Given the description of an element on the screen output the (x, y) to click on. 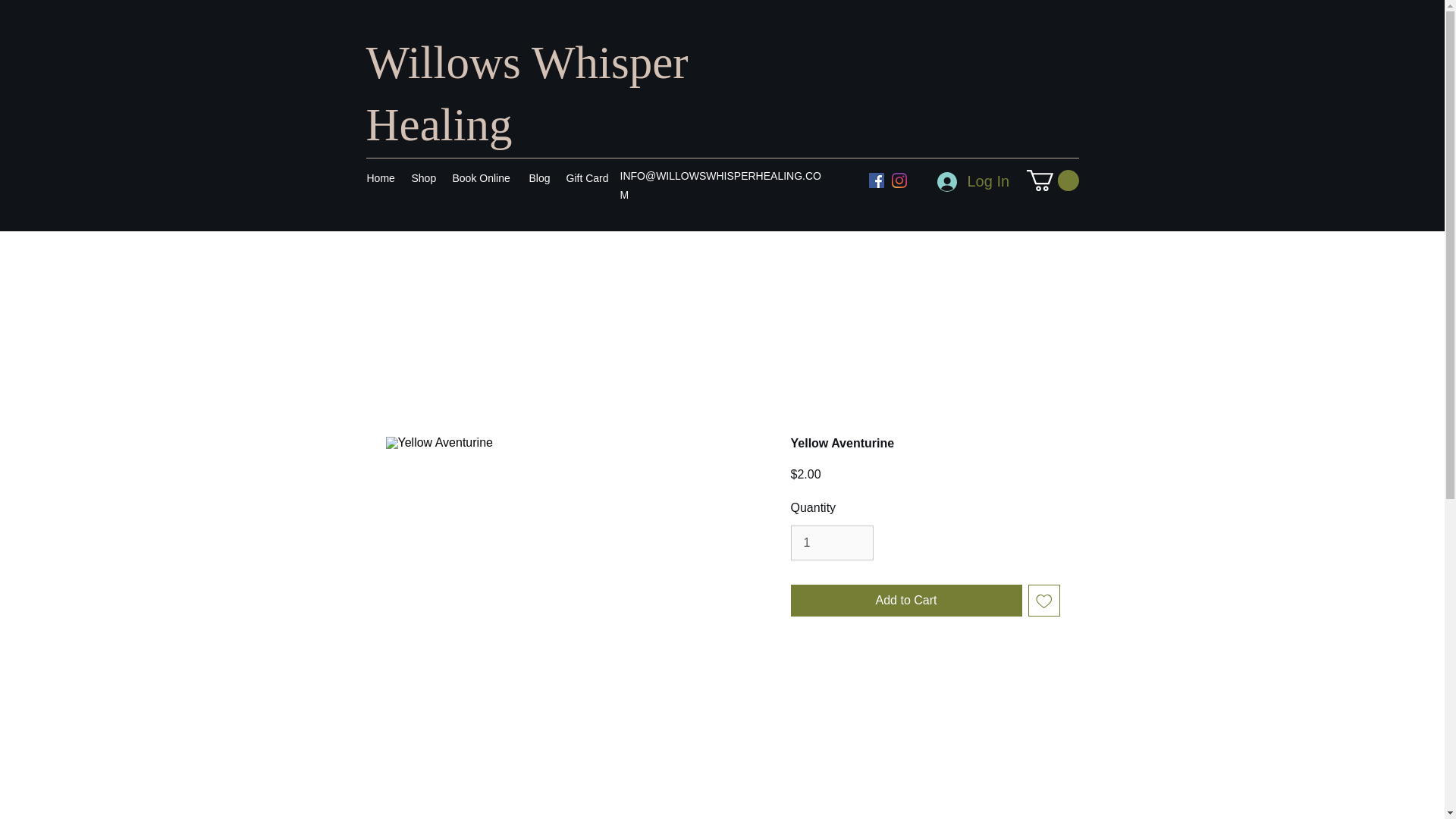
Book Online (482, 178)
1 (831, 542)
Add to Cart (906, 600)
Gift Card (587, 178)
Home (381, 178)
Blog (540, 178)
Log In (971, 181)
Shop (423, 178)
